Given the description of an element on the screen output the (x, y) to click on. 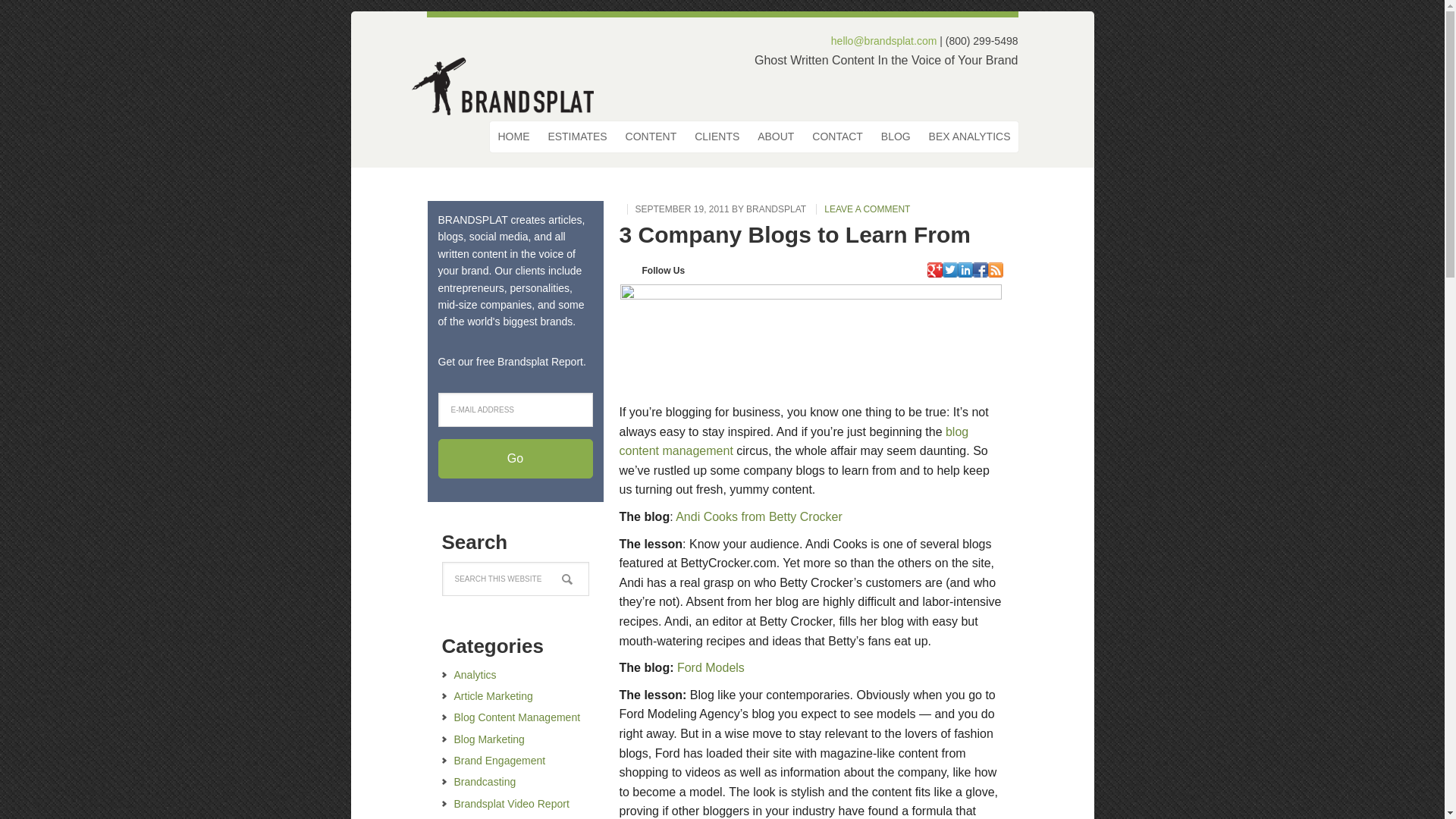
blog content management (793, 441)
CLIENTS (716, 136)
CONTENT (650, 136)
Analytics (474, 674)
Brandcasting (483, 781)
Brandsplat (509, 83)
HOME (513, 136)
Go (515, 458)
Andi Cooks from Betty Crocker (759, 516)
